Given the description of an element on the screen output the (x, y) to click on. 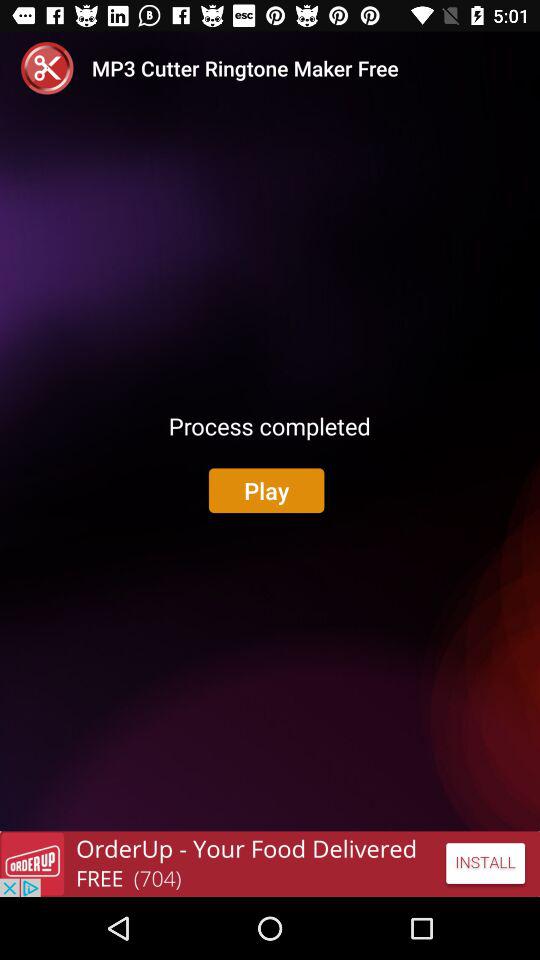
adventisment page (270, 864)
